Given the description of an element on the screen output the (x, y) to click on. 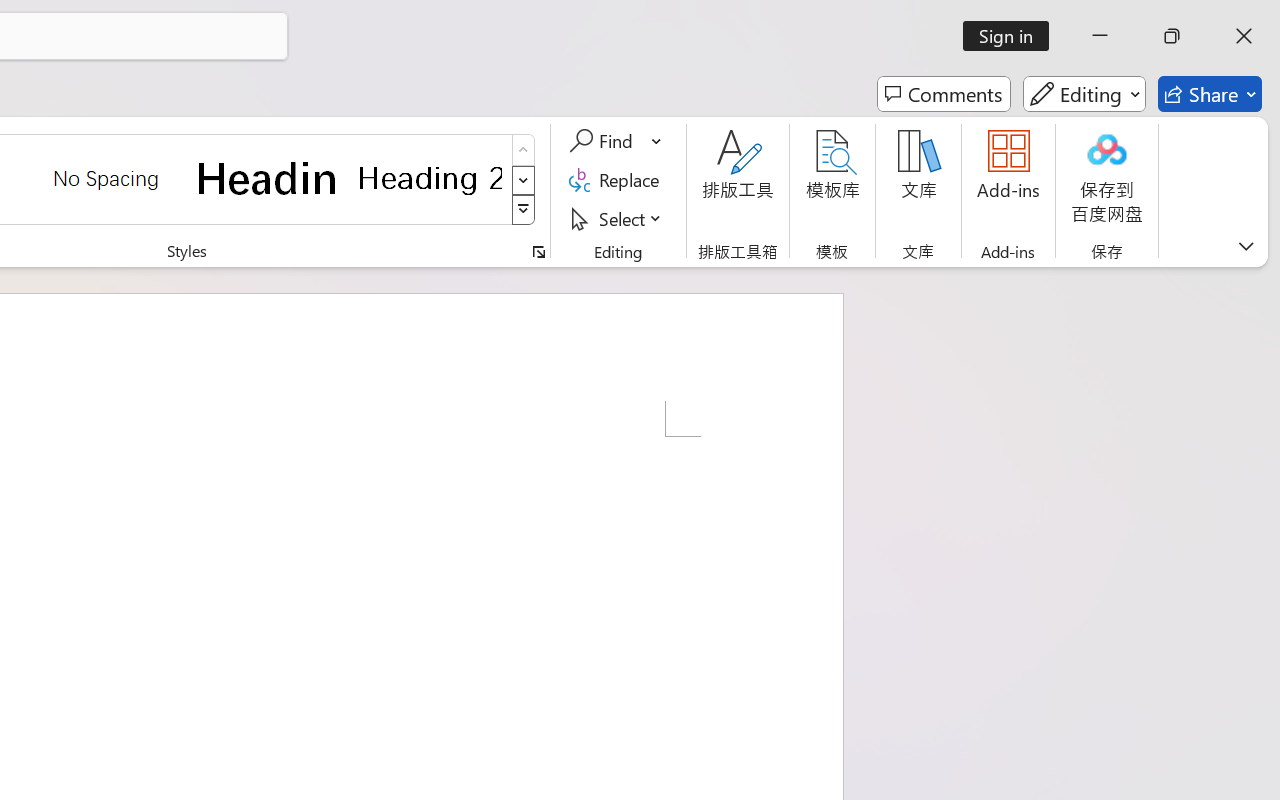
Sign in (1012, 35)
